Given the description of an element on the screen output the (x, y) to click on. 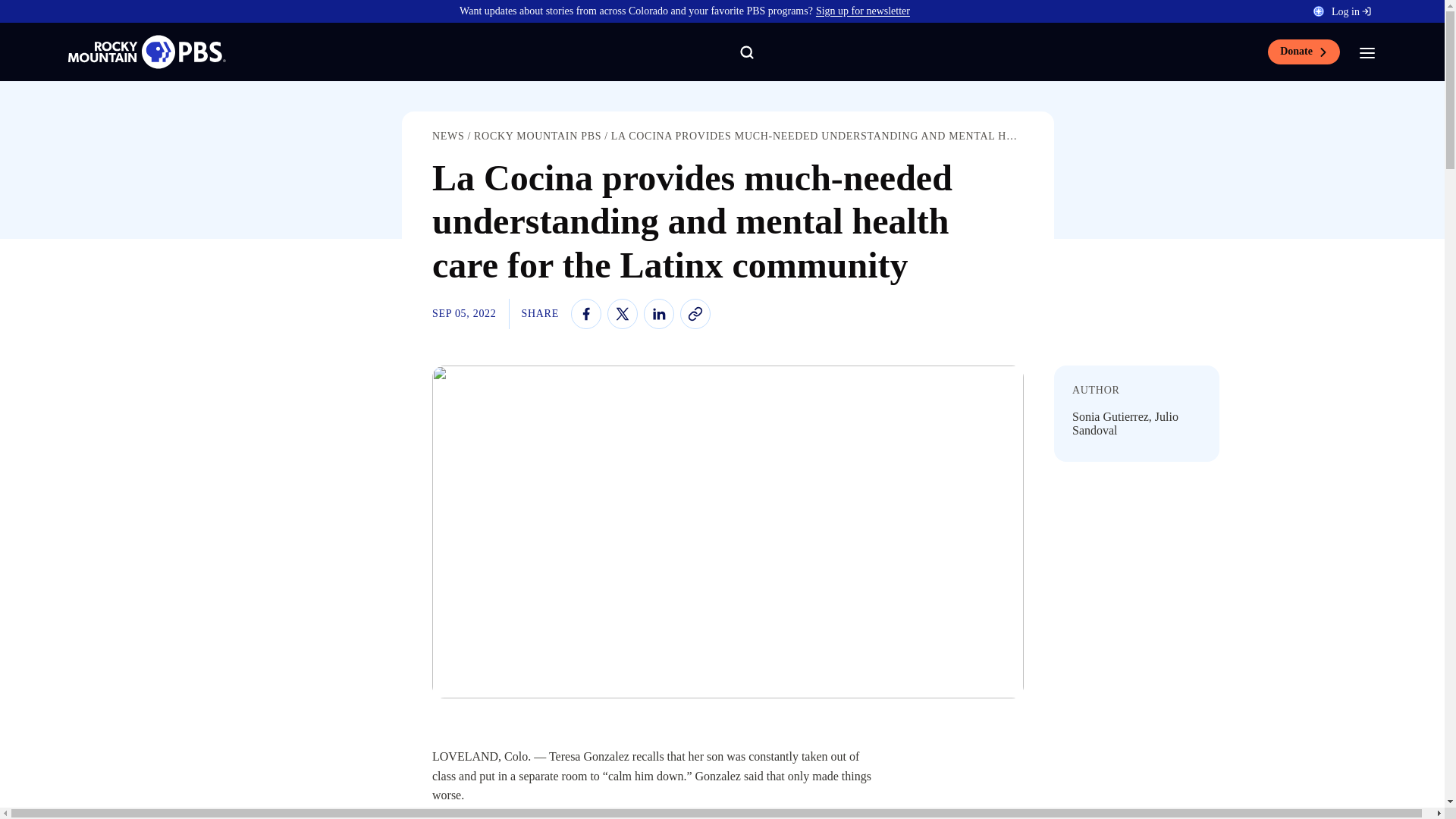
ROCKY MOUNTAIN PBS (537, 135)
NEWS (448, 135)
Sign up for newsletter (862, 11)
Log in (1350, 11)
Donate (1303, 51)
